Given the description of an element on the screen output the (x, y) to click on. 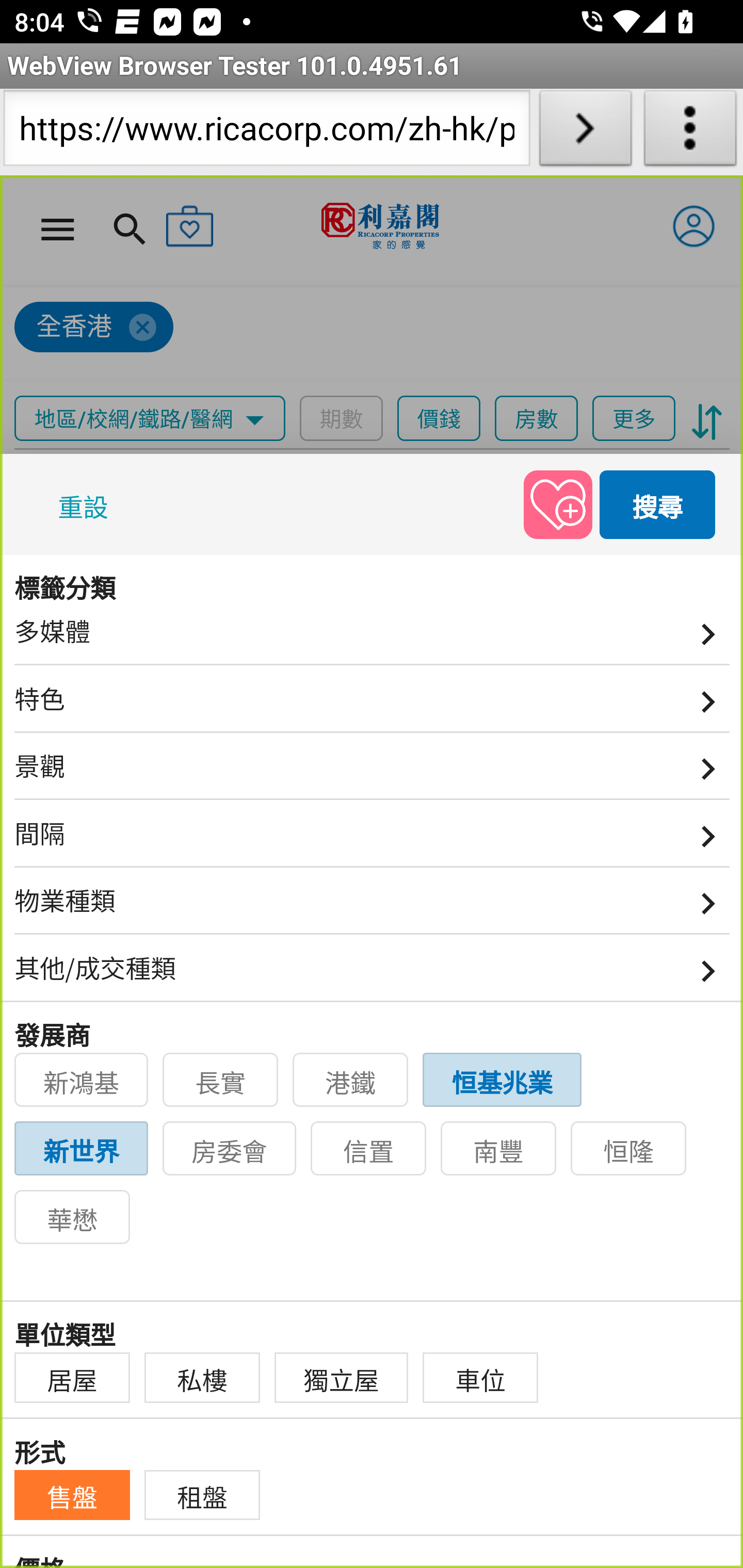
https://www.ricacorp.com/zh-hk/property/list/buy (266, 132)
Load URL (585, 132)
About WebView (690, 132)
重設 (86, 503)
save (557, 503)
搜尋 (657, 503)
室內相 (63, 580)
多媒體 (372, 637)
特色 (372, 704)
景觀 (372, 772)
間隔 (372, 840)
物業種類 (372, 907)
其他/成交種類 (372, 974)
新鴻基 (81, 1080)
長實 (220, 1080)
港鐵 (350, 1080)
恒基兆業 (502, 1080)
新世界 (81, 1149)
房委會 (229, 1149)
信置 (368, 1149)
南豐 (498, 1149)
恒隆 (629, 1149)
華懋 (72, 1217)
居屋 (72, 1377)
私樓 (202, 1377)
獨立屋 (341, 1377)
車位 (480, 1377)
售盤 (72, 1494)
租盤 (202, 1494)
